Given the description of an element on the screen output the (x, y) to click on. 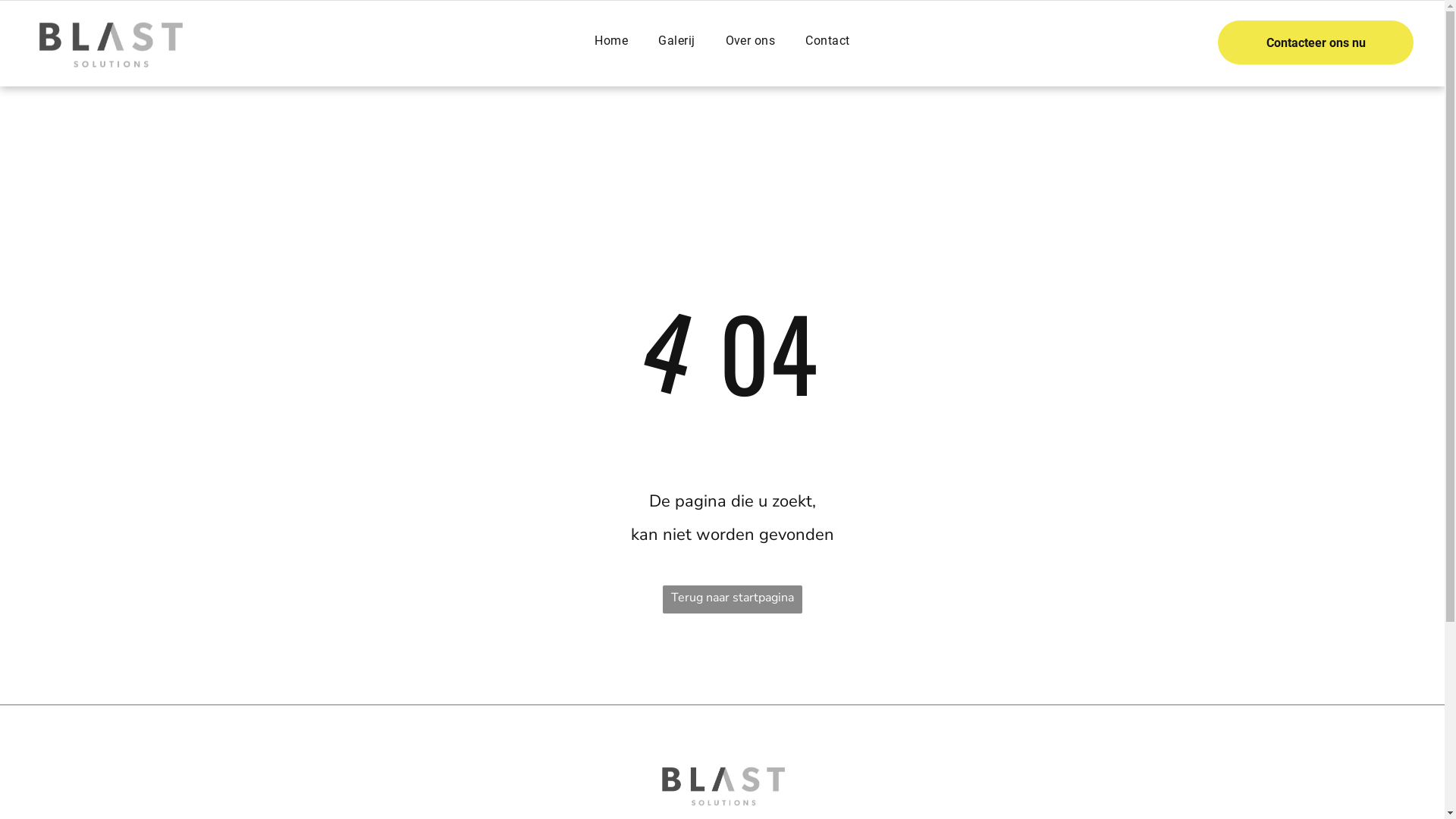
Terug naar startpagina Element type: text (732, 599)
Galerij Element type: text (676, 40)
Over ons Element type: text (750, 40)
Home Element type: text (611, 40)
Contact Element type: text (827, 40)
Contacteer ons nu Element type: text (1315, 42)
